Given the description of an element on the screen output the (x, y) to click on. 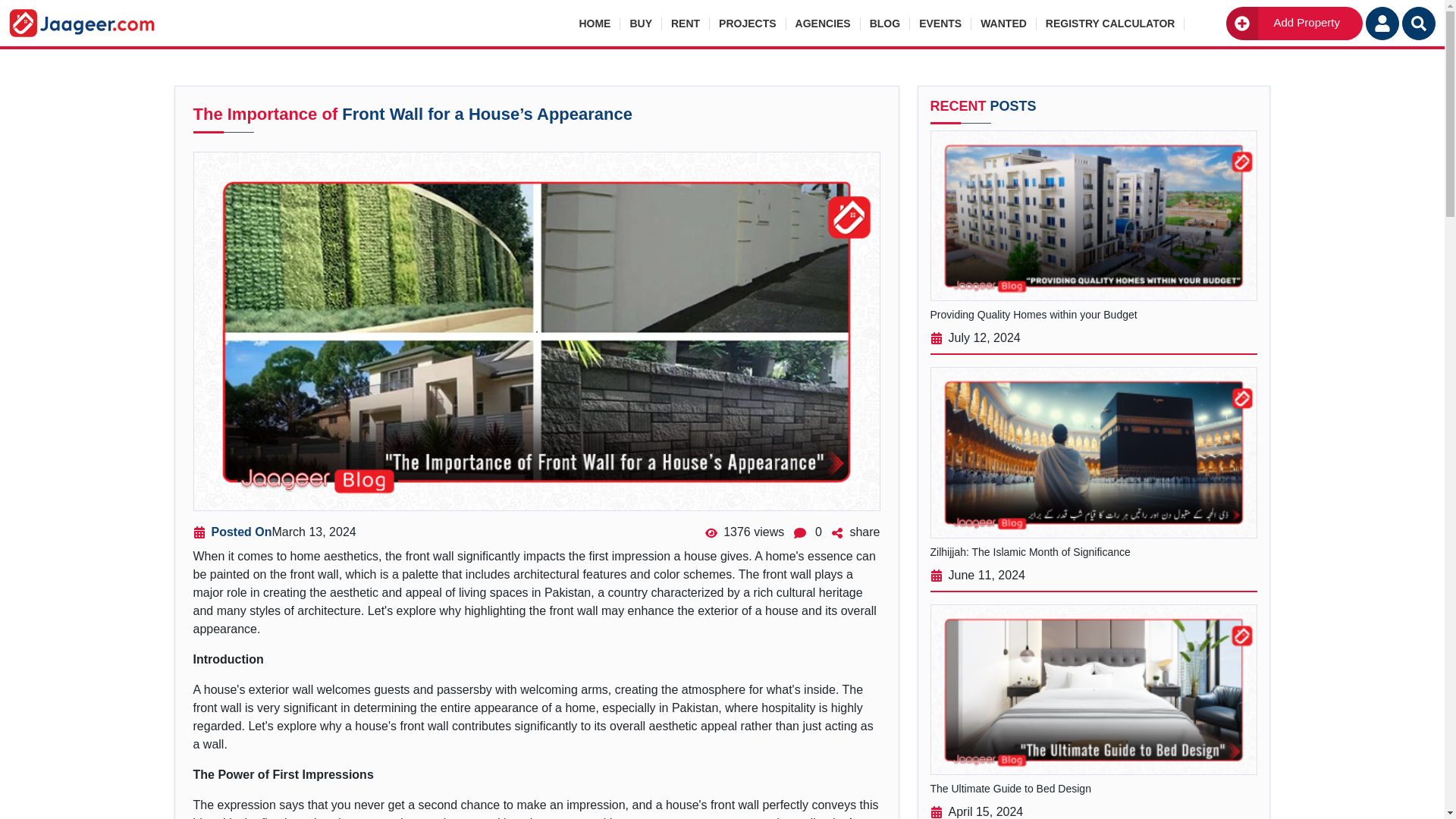
BUY (641, 23)
Providing Quality Homes within your Budget (1093, 361)
RENT (686, 23)
BLOG (885, 23)
Zilhijjah: The Islamic Month of Significance (1093, 599)
Add Property (1293, 22)
EVENTS (940, 23)
share (852, 531)
PROJECTS (748, 23)
REGISTRY CALCULATOR (1110, 23)
